Given the description of an element on the screen output the (x, y) to click on. 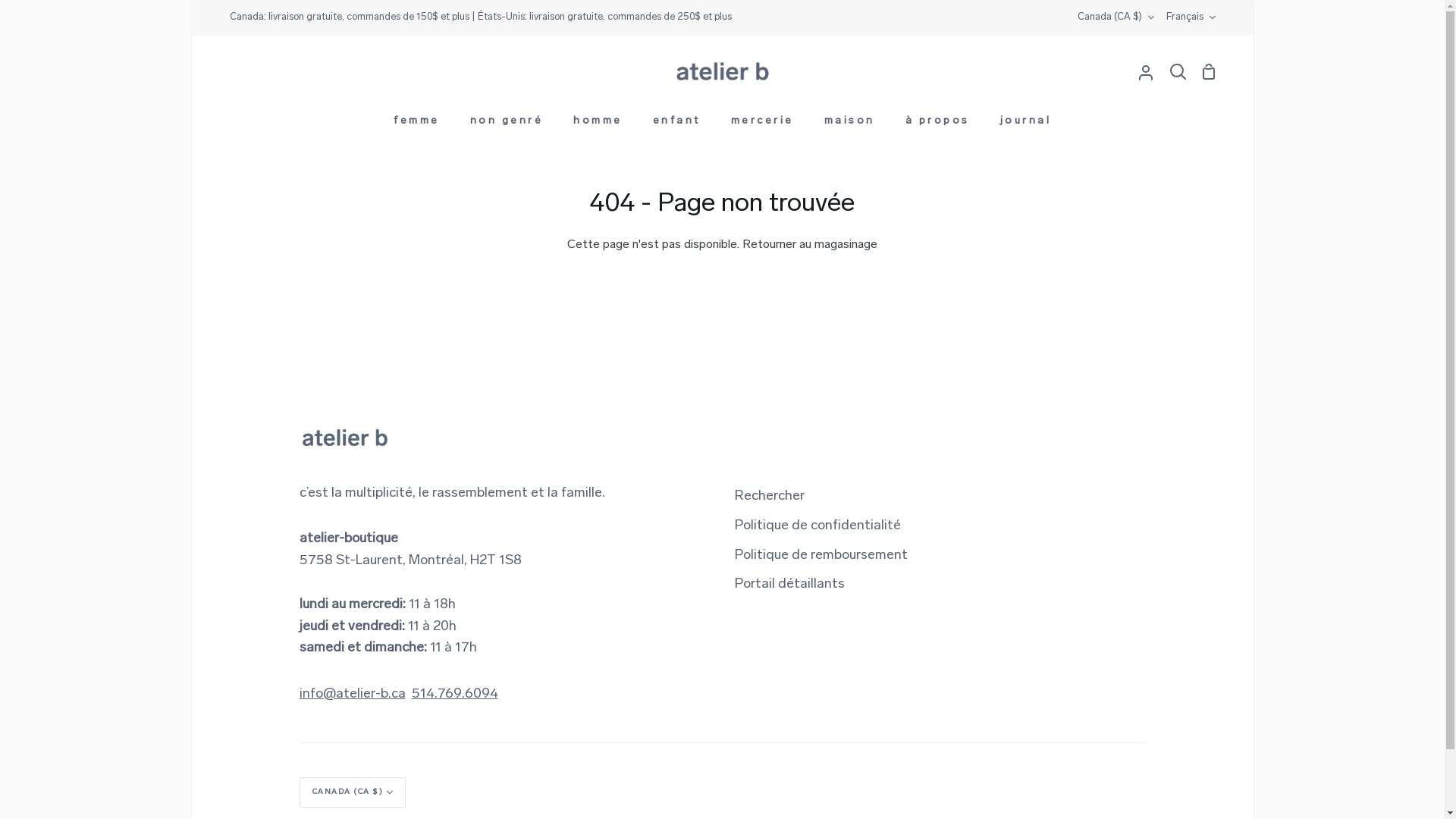
femme Element type: text (416, 124)
journal Element type: text (1025, 124)
Rechercher Element type: text (768, 497)
enfant Element type: text (676, 124)
mercerie Element type: text (762, 124)
CANADA (CA $) Element type: text (351, 792)
514.769.6094 Element type: text (454, 694)
maison Element type: text (848, 124)
info@atelier-b.ca Element type: text (351, 694)
Politique de remboursement Element type: text (820, 556)
Canada (CA $) Element type: text (1114, 17)
Mon compte Element type: text (1145, 71)
Panier Element type: text (1207, 71)
homme Element type: text (597, 124)
Recherche Element type: text (1177, 71)
Retourner au magasinage Element type: text (809, 244)
